Given the description of an element on the screen output the (x, y) to click on. 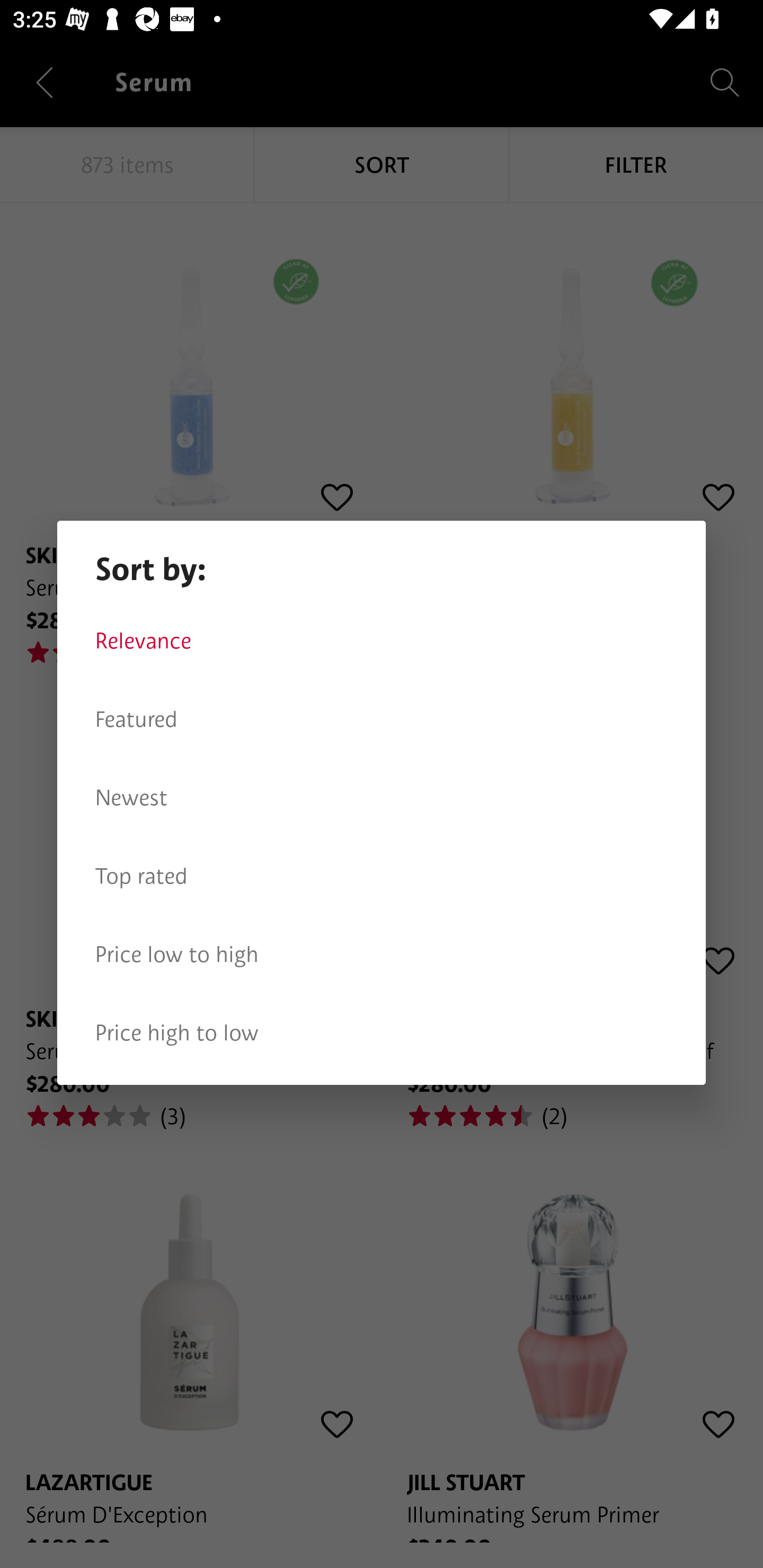
Relevance (381, 641)
Featured (381, 719)
Newest (381, 797)
Top rated (381, 876)
Price low to high (381, 954)
Price high to low (381, 1033)
